Given the description of an element on the screen output the (x, y) to click on. 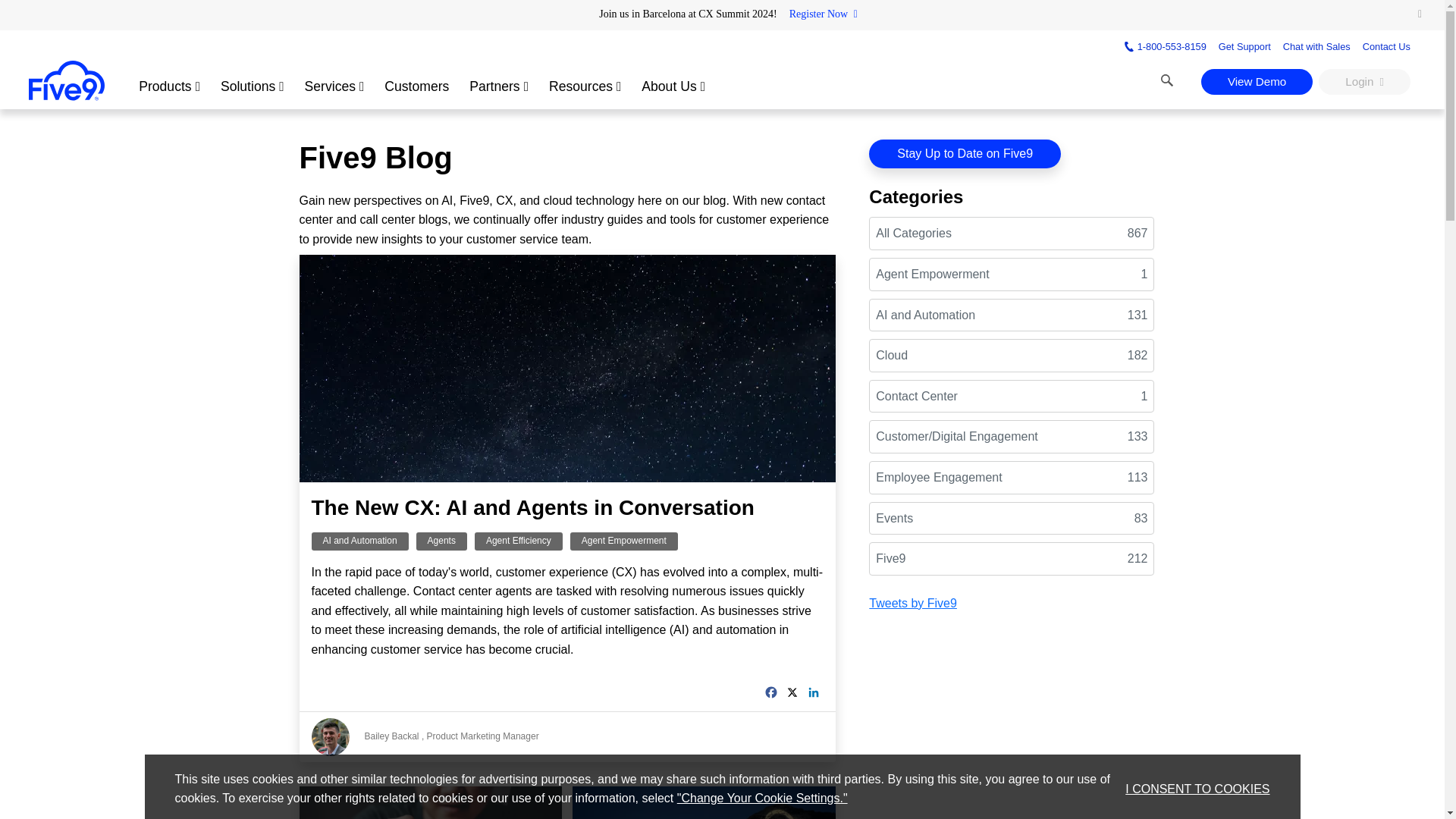
Products (169, 83)
View Demo (1257, 81)
1-800-553-8159 (1164, 46)
Register Now (823, 13)
Get Support (1244, 46)
Contact Us (1386, 46)
Chat with Sales (1316, 46)
Login (1364, 81)
